Given the description of an element on the screen output the (x, y) to click on. 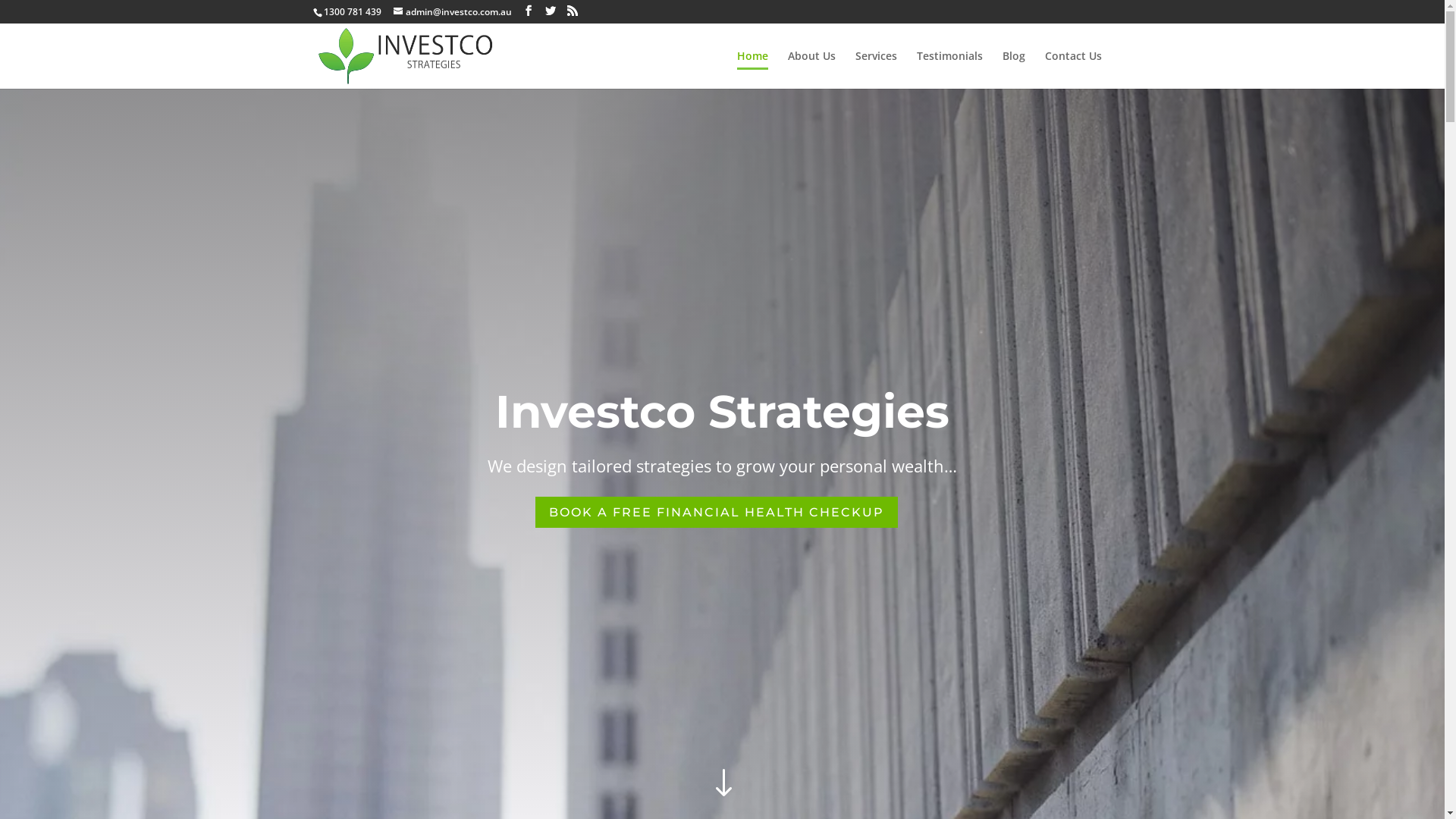
About Us Element type: text (810, 69)
BOOK A FREE FINANCIAL HEALTH CHECKUP Element type: text (716, 511)
Services Element type: text (876, 69)
Testimonials Element type: text (949, 69)
admin@investco.com.au Element type: text (451, 11)
Contact Us Element type: text (1072, 69)
" Element type: text (721, 783)
Home Element type: text (752, 69)
Blog Element type: text (1013, 69)
